Given the description of an element on the screen output the (x, y) to click on. 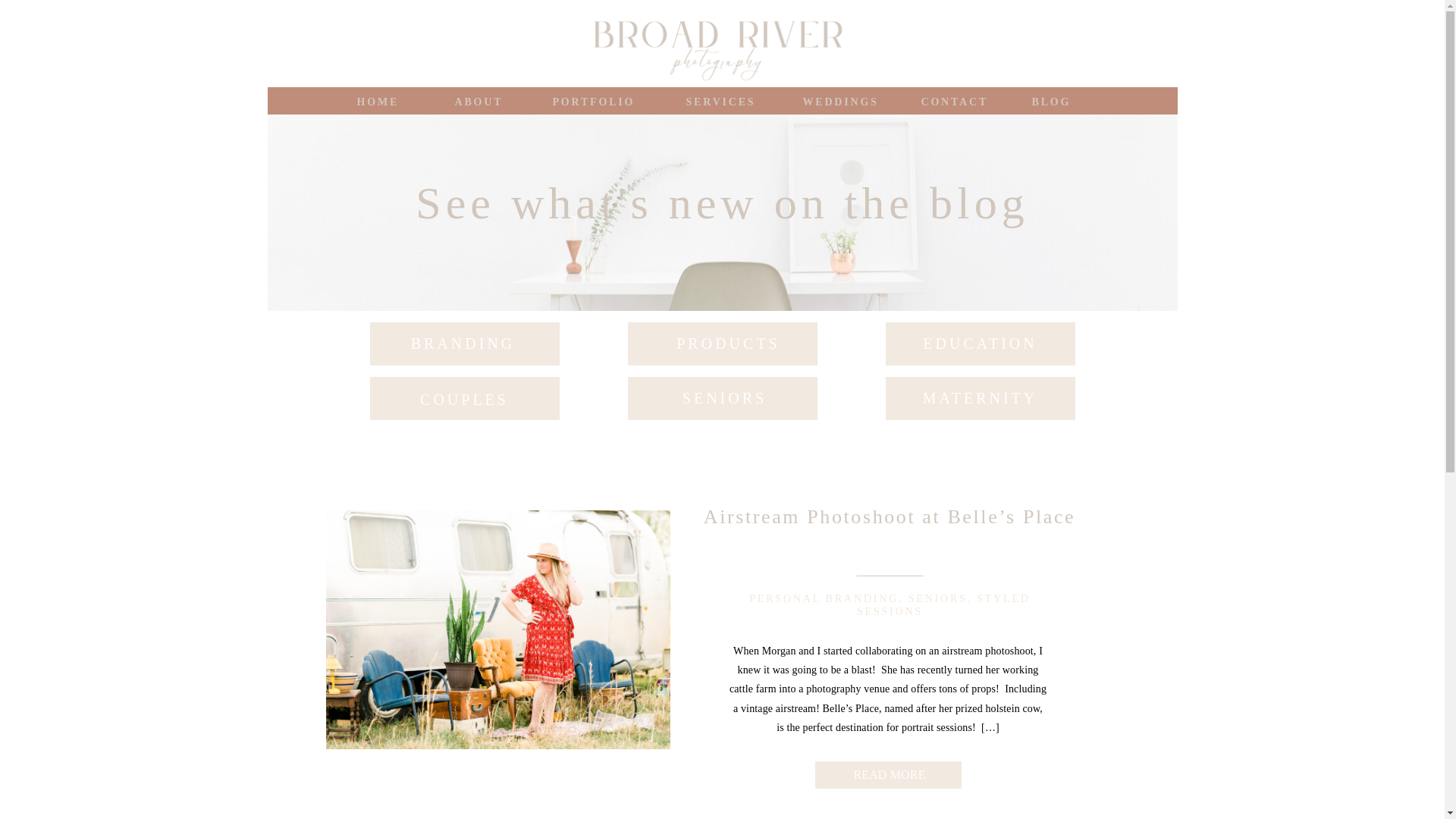
SENIORS (724, 402)
READ MORE (888, 772)
PRODUCTS (727, 347)
PERSONAL BRANDING (823, 598)
COUPLES (463, 401)
WEDDINGS (843, 100)
HOME (378, 100)
MATERNITY (979, 402)
BRANDING (462, 345)
SERVICES (721, 100)
BLOG (1050, 100)
PORTFOLIO (598, 100)
STYLED SESSIONS (943, 604)
ABOUT (479, 100)
EDUCATION (979, 347)
